Given the description of an element on the screen output the (x, y) to click on. 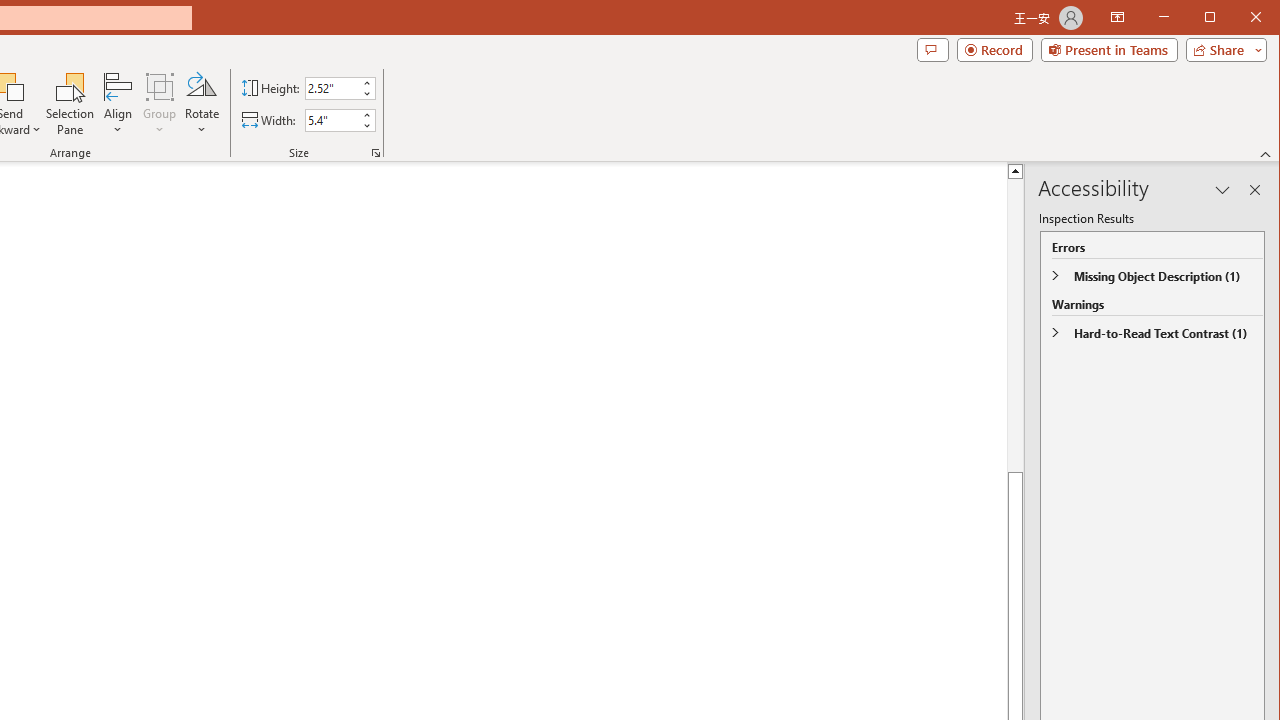
Share (1222, 49)
Shape Height (331, 88)
Comments (932, 49)
Present in Teams (1108, 49)
More (366, 115)
Task Pane Options (1222, 189)
Align (118, 104)
